Given the description of an element on the screen output the (x, y) to click on. 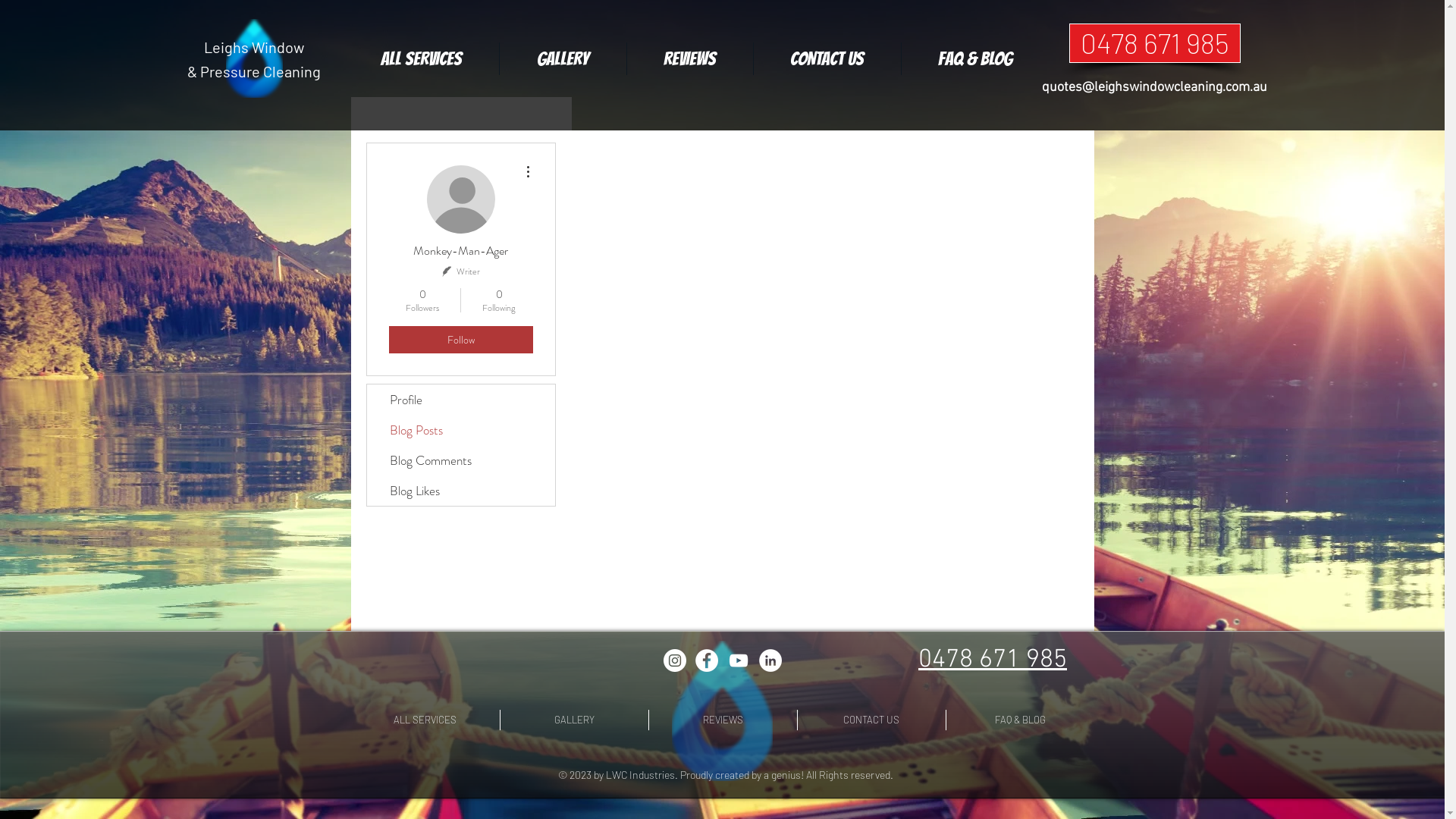
Leighs Window
& Pressure Cleaning Element type: text (253, 58)
CONTACT US Element type: text (826, 58)
quotes@leighswindowcleaning.com.au Element type: text (1154, 87)
0
Followers Element type: text (421, 299)
GALLERY Element type: text (561, 58)
Profile Element type: text (461, 399)
ALL SERVICES Element type: text (420, 58)
FAQ & BLOG Element type: text (1020, 719)
0478 671 985 Element type: text (992, 659)
REVIEWS Element type: text (689, 58)
Follow Element type: text (460, 339)
0478 671 985 Element type: text (1154, 42)
HOME PAGE Element type: hover (253, 57)
FAQ & BLOG Element type: text (974, 58)
0
Following Element type: text (499, 299)
GALLERY Element type: text (574, 719)
CONTACT US Element type: text (871, 719)
HOME PAGE Element type: hover (721, 710)
Blog Comments Element type: text (461, 460)
REVIEWS Element type: text (723, 719)
Blog Posts Element type: hover (827, 402)
ALL SERVICES Element type: text (424, 719)
Blog Likes Element type: text (461, 490)
Blog Posts Element type: text (461, 429)
